Given the description of an element on the screen output the (x, y) to click on. 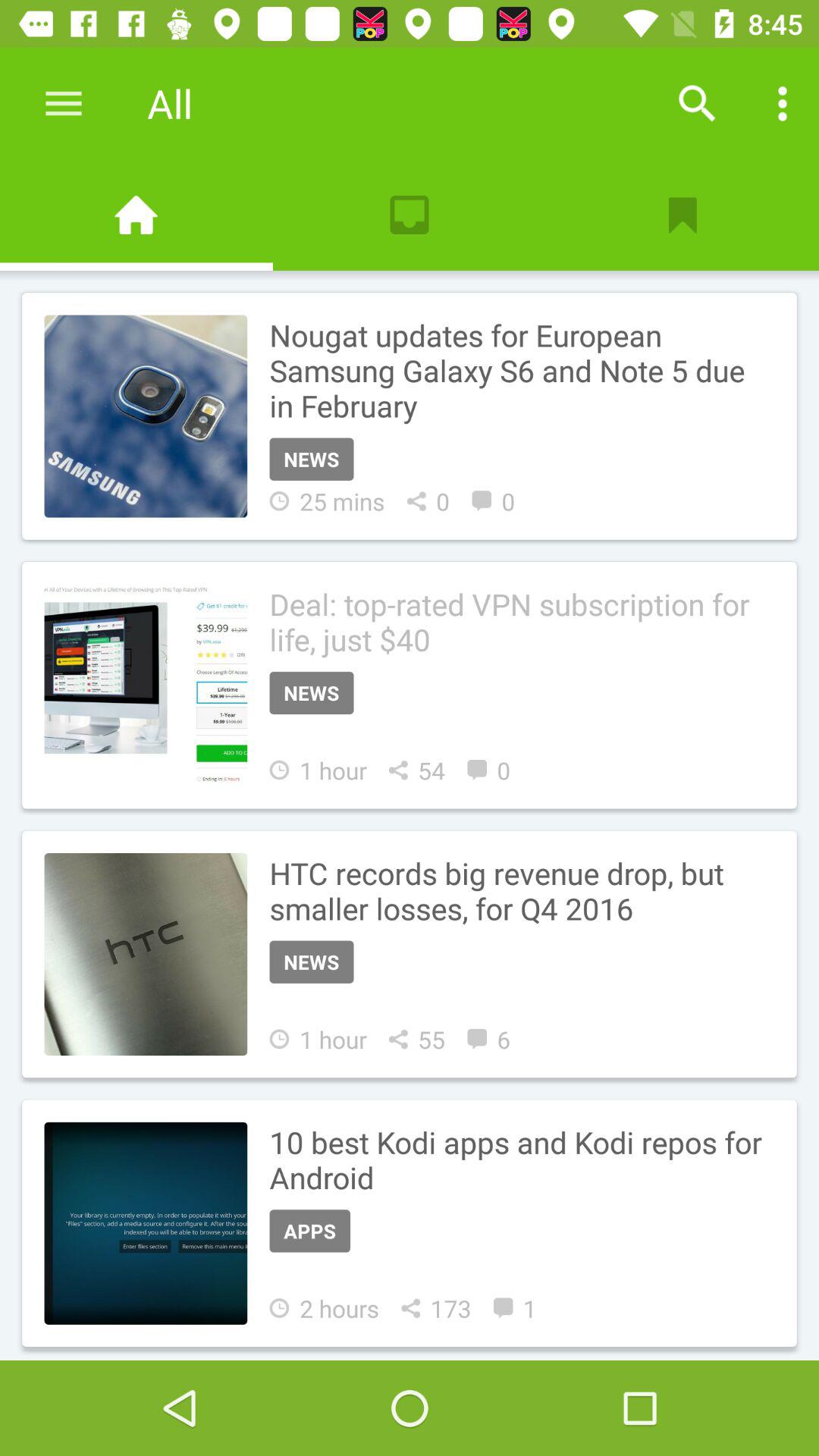
an icon of a house that when pressed takes you to the home page (136, 214)
